Given the description of an element on the screen output the (x, y) to click on. 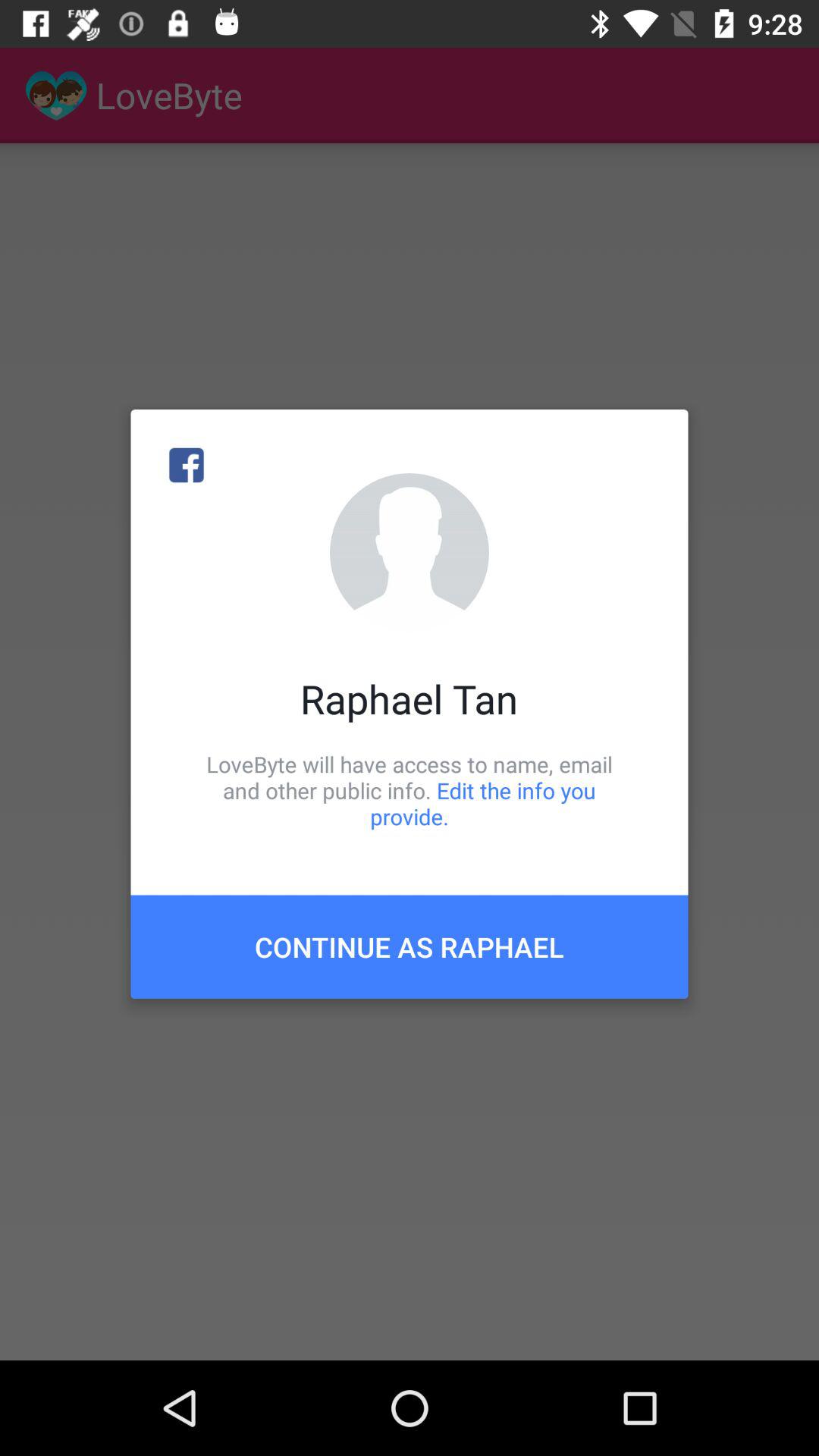
open lovebyte will have icon (409, 790)
